Given the description of an element on the screen output the (x, y) to click on. 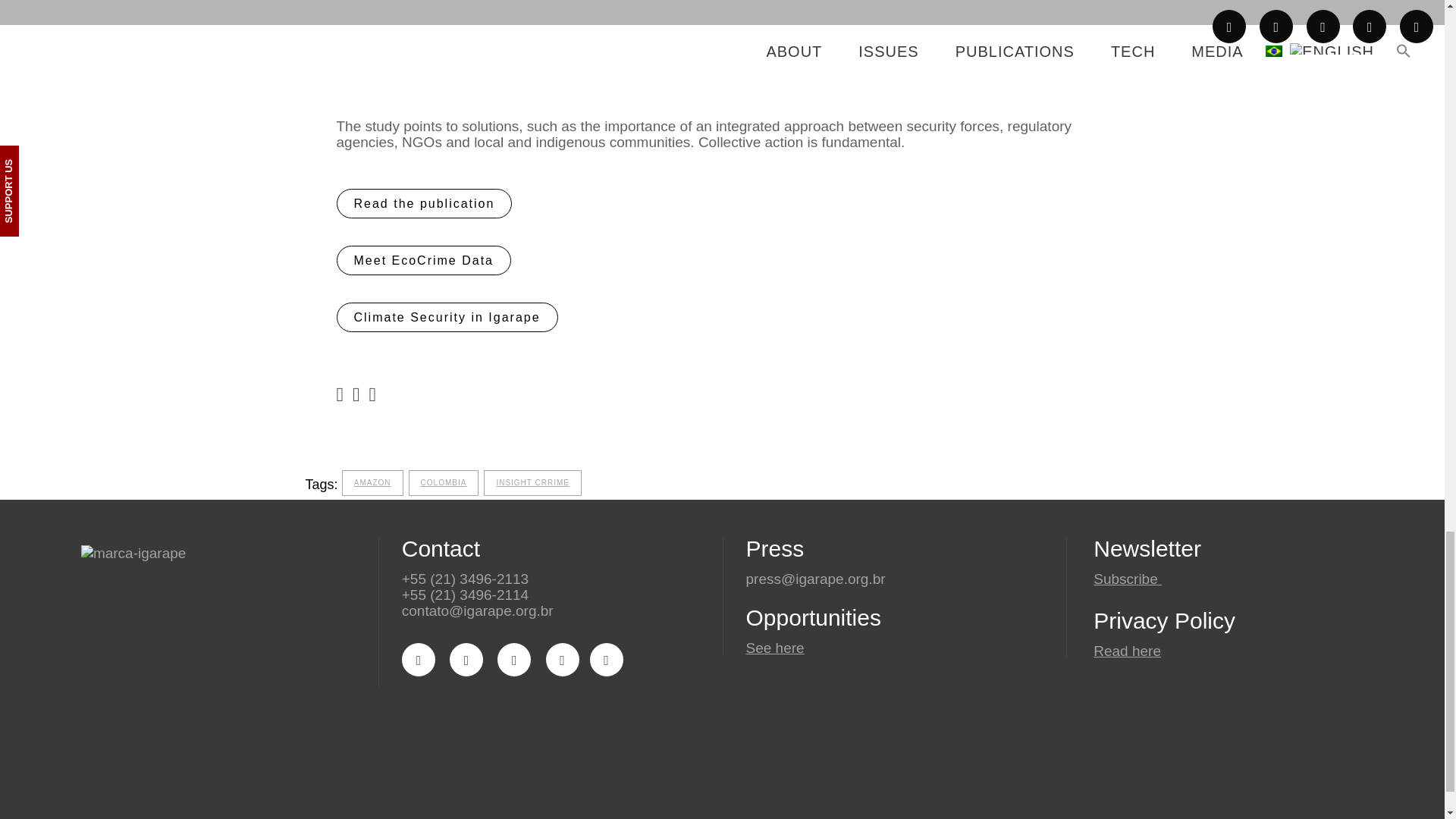
Share on Facebook (339, 393)
Share on Twitter (355, 393)
Share on LinkedIn (371, 393)
